Given the description of an element on the screen output the (x, y) to click on. 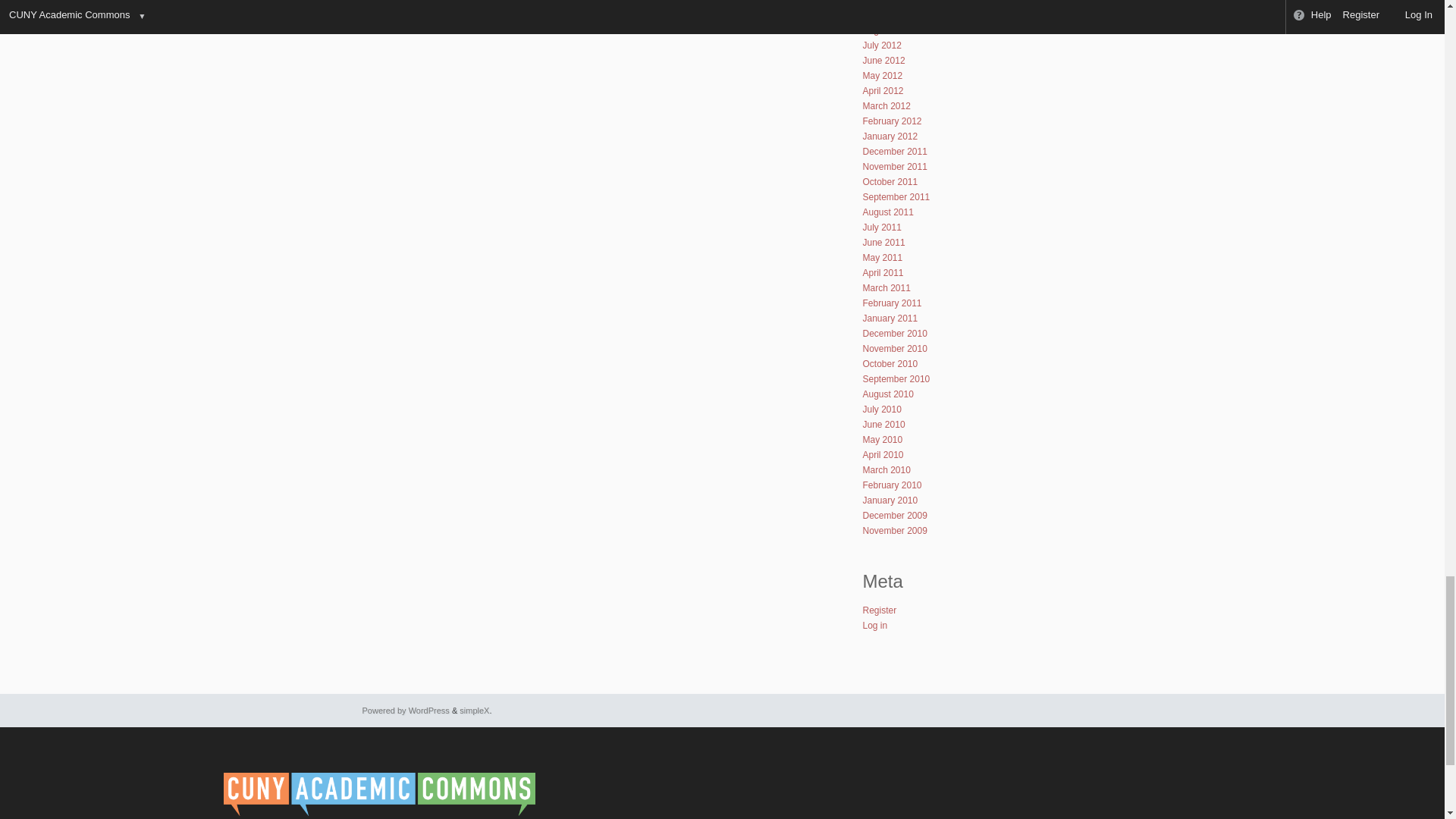
Semantic Personal Publishing Platform (405, 709)
Minimalist WordPress Themes (474, 709)
